Given the description of an element on the screen output the (x, y) to click on. 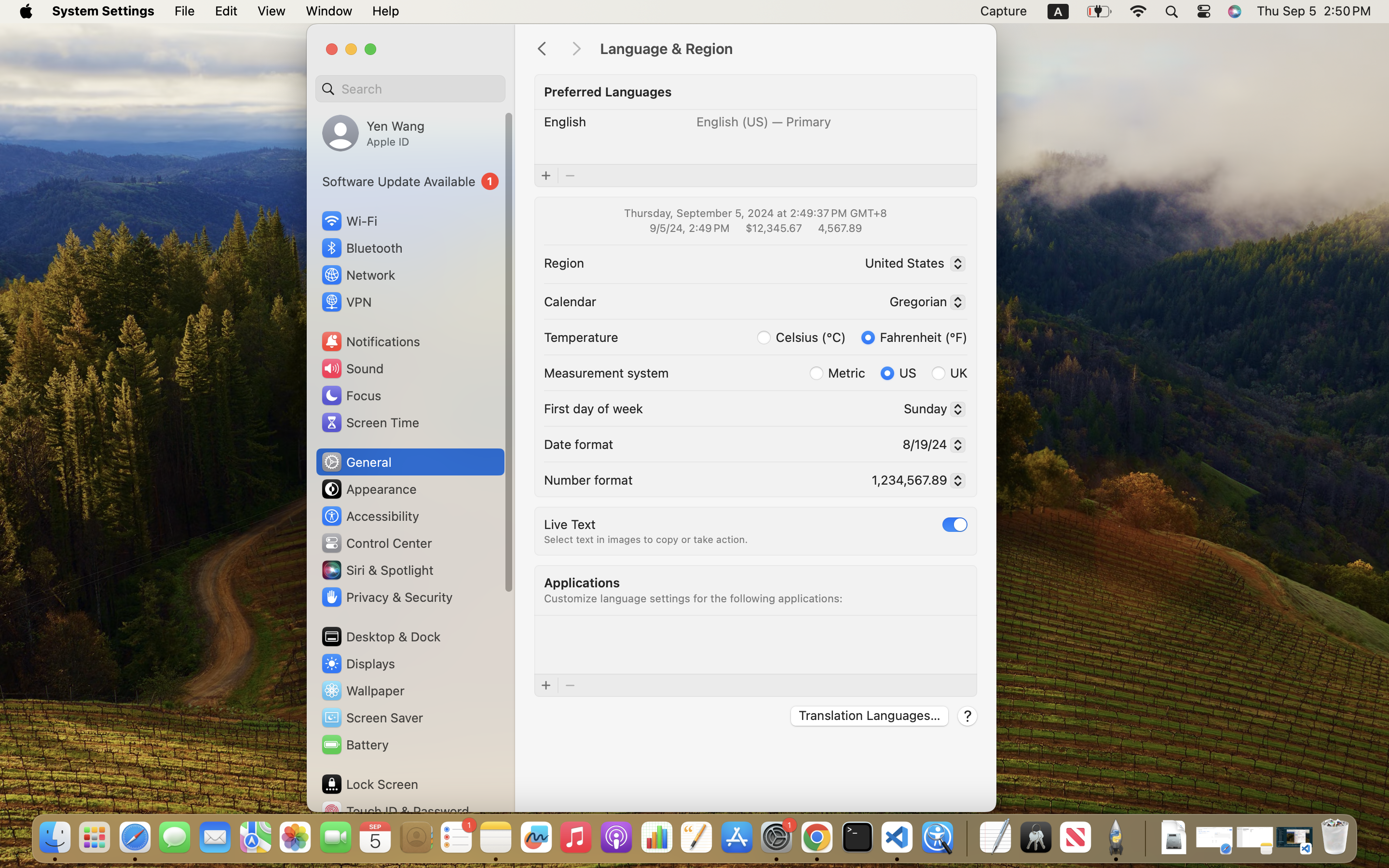
First day of week Element type: AXStaticText (593, 407)
Network Element type: AXStaticText (357, 274)
Privacy & Security Element type: AXStaticText (386, 596)
4,567.89 Element type: AXStaticText (839, 227)
General Element type: AXStaticText (355, 461)
